Given the description of an element on the screen output the (x, y) to click on. 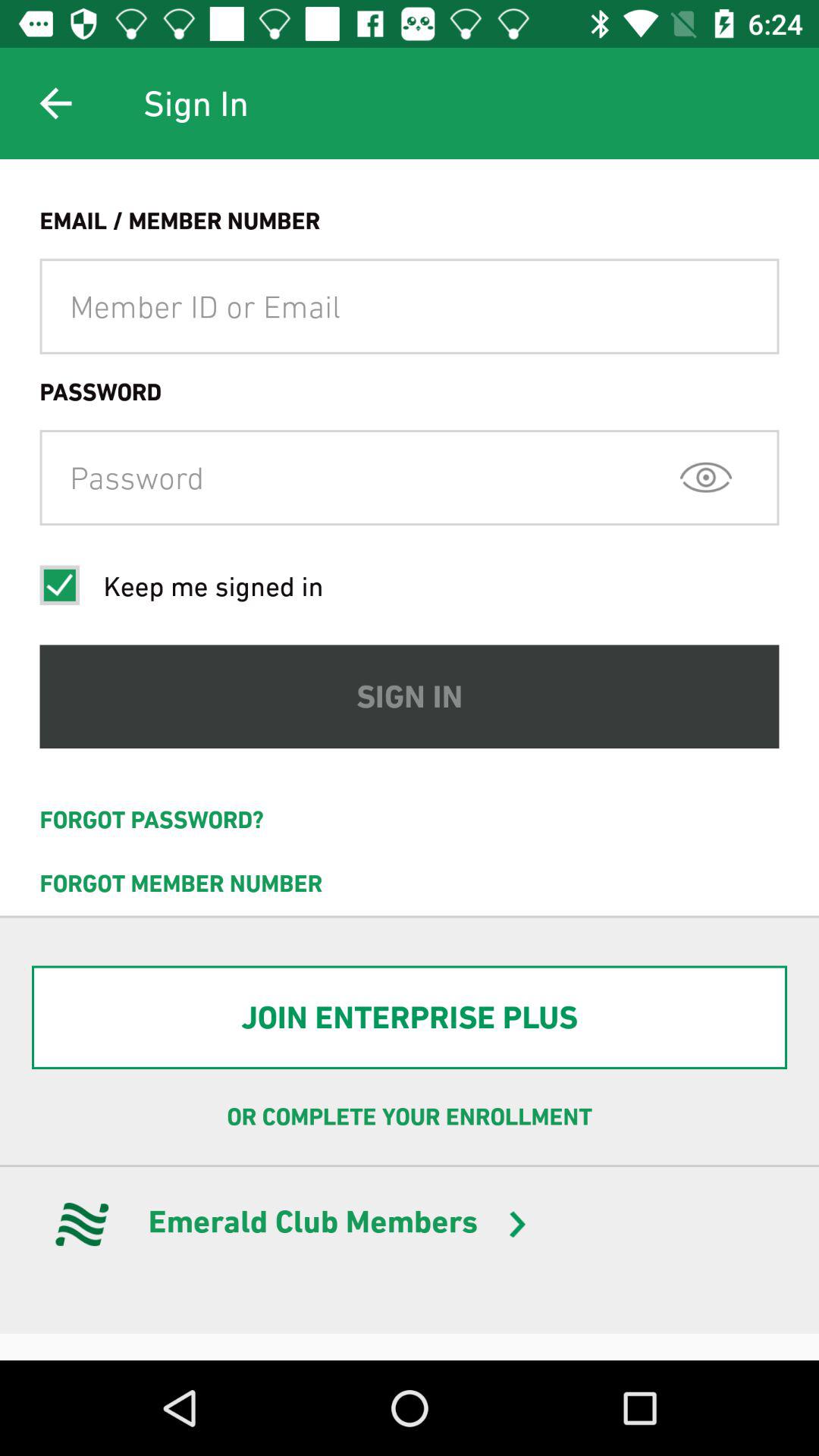
scroll until forgot password? icon (409, 819)
